Given the description of an element on the screen output the (x, y) to click on. 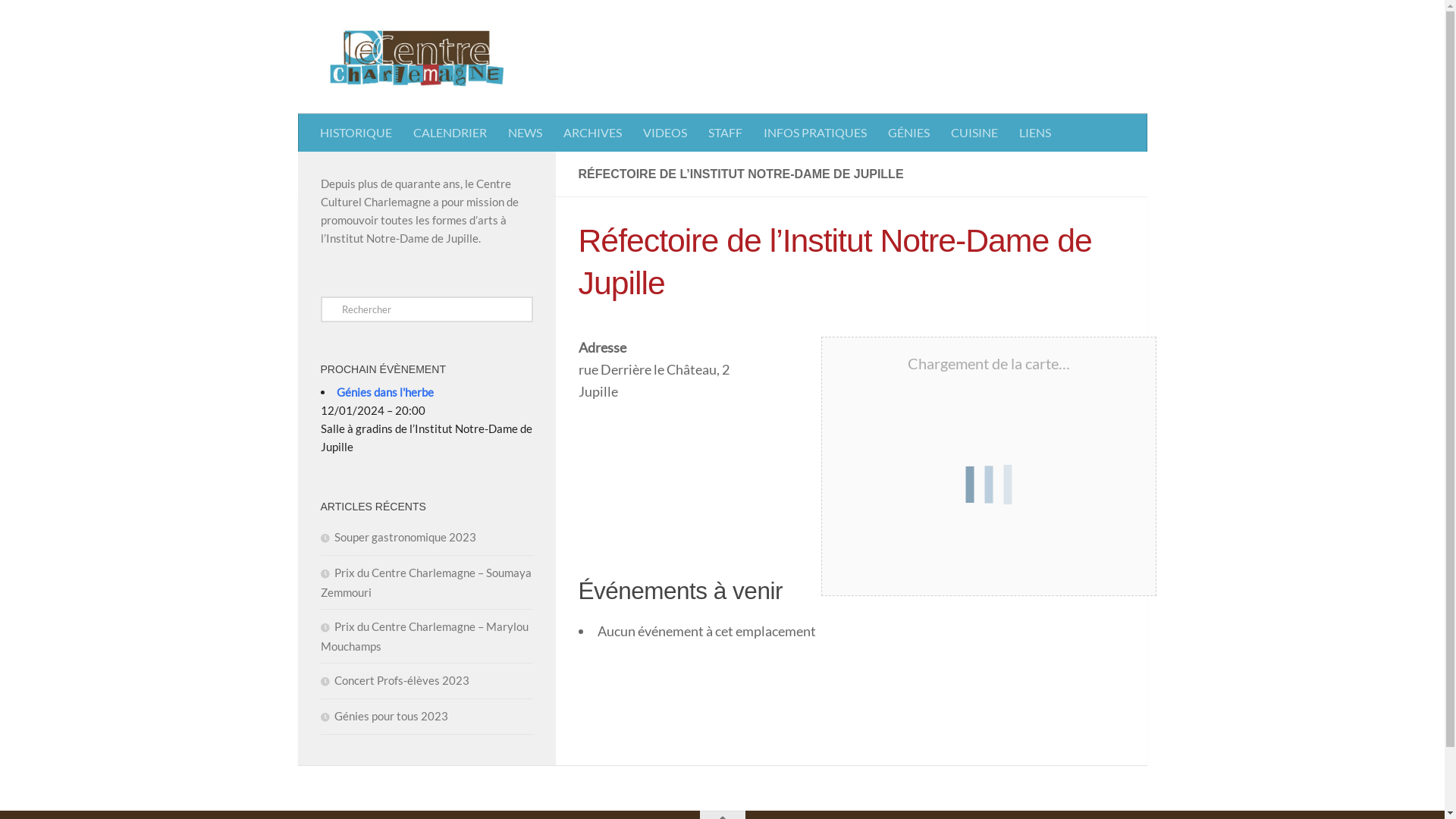
LIENS Element type: text (1034, 132)
STAFF Element type: text (725, 132)
Souper gastronomique 2023 Element type: text (397, 536)
NEWS Element type: text (524, 132)
ARCHIVES Element type: text (591, 132)
VIDEOS Element type: text (664, 132)
HISTORIQUE Element type: text (355, 132)
Skip to content Element type: text (59, 21)
Centre Charlemagne | Page d'accueil Element type: hover (416, 56)
CALENDRIER Element type: text (448, 132)
CUISINE Element type: text (974, 132)
INFOS PRATIQUES Element type: text (814, 132)
